Given the description of an element on the screen output the (x, y) to click on. 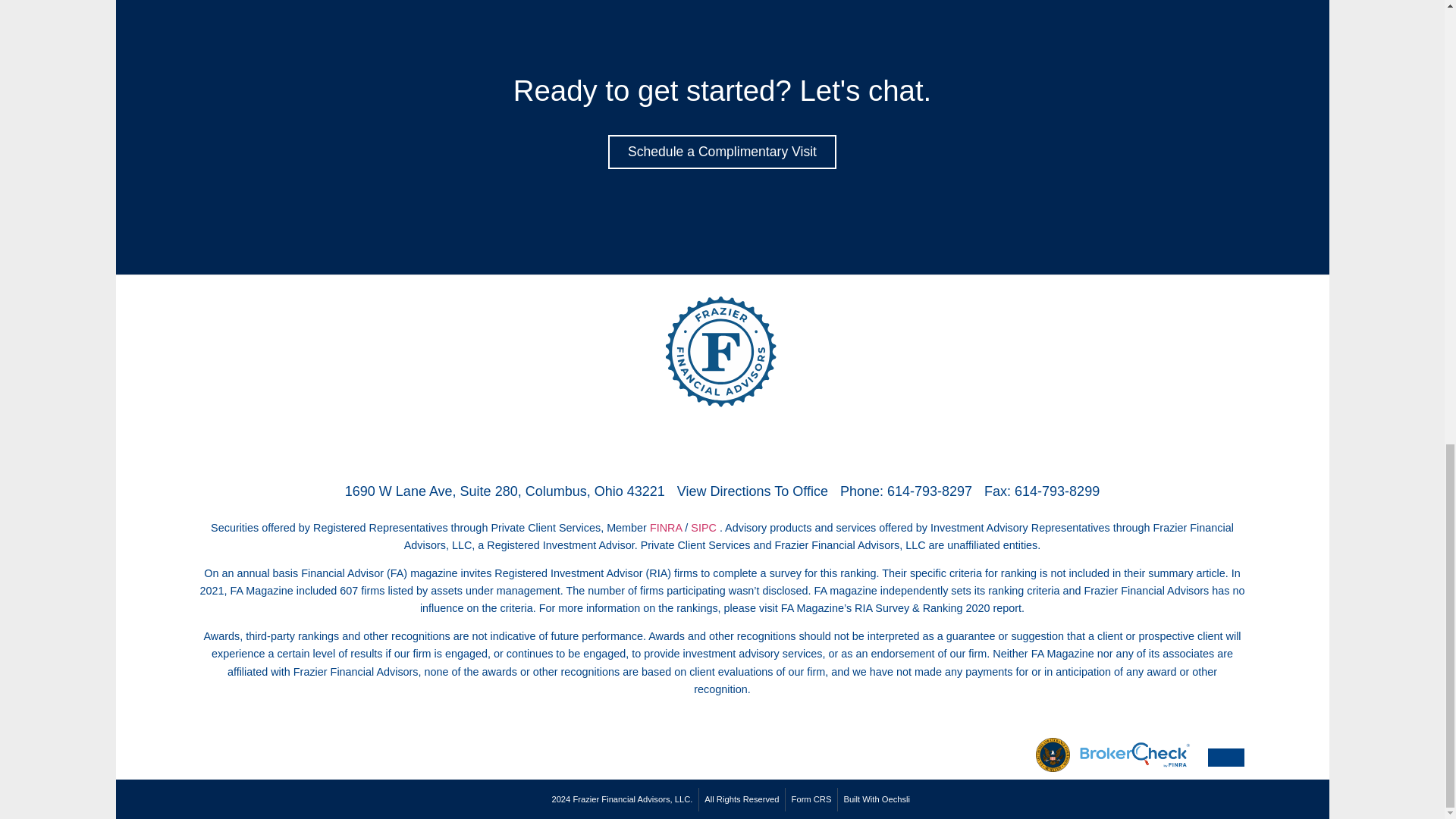
Schedule a Complimentary Visit (721, 152)
Linkedin (701, 444)
Phone: 614-793-8297 (906, 491)
Facebook (659, 444)
Youtube (784, 444)
View Directions To Office (752, 491)
Instagram (742, 444)
1690 W Lane Ave, Suite 280, Columbus, Ohio 43221 (505, 491)
